Given the description of an element on the screen output the (x, y) to click on. 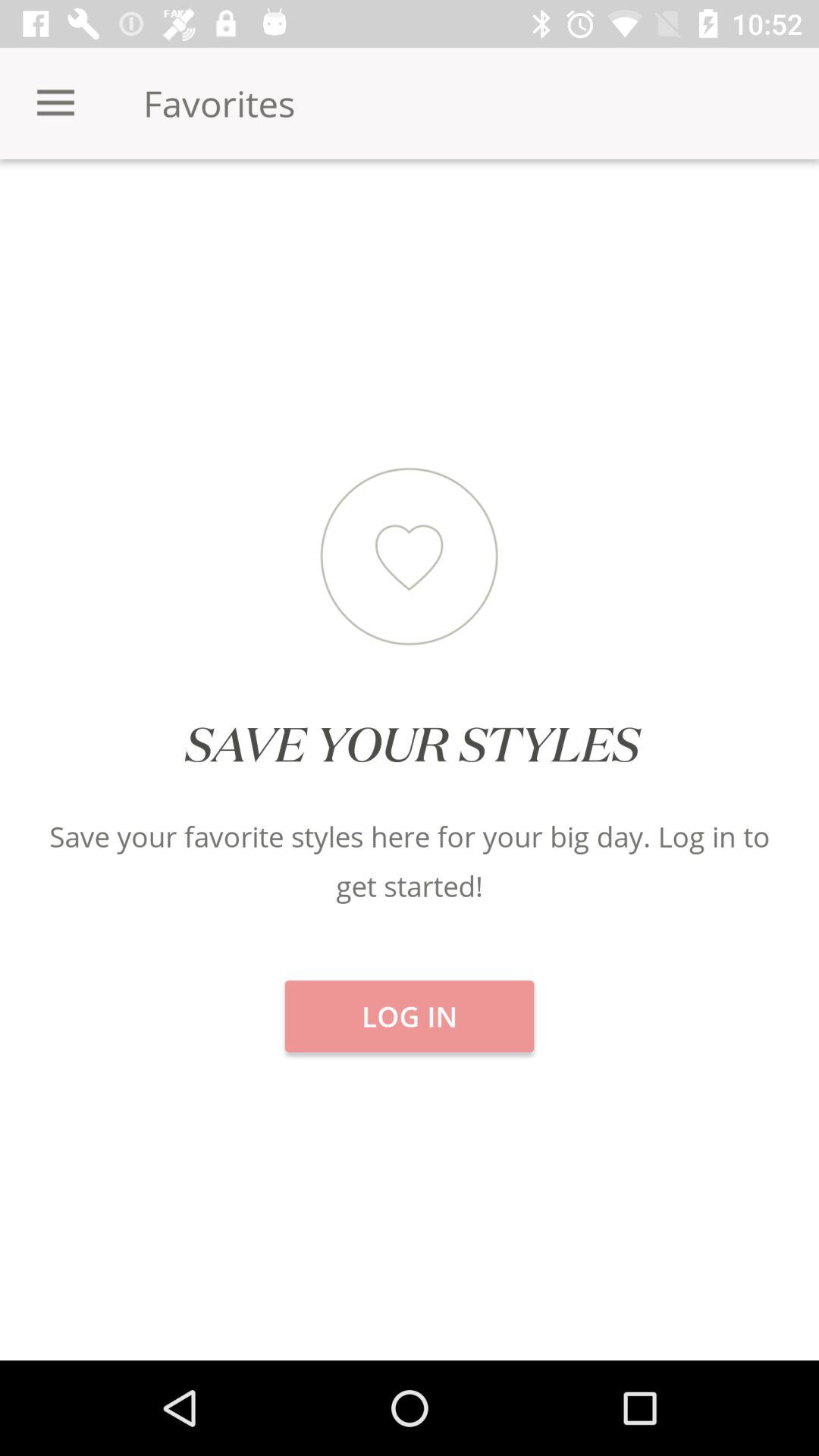
select icon above hello item (136, 212)
